Given the description of an element on the screen output the (x, y) to click on. 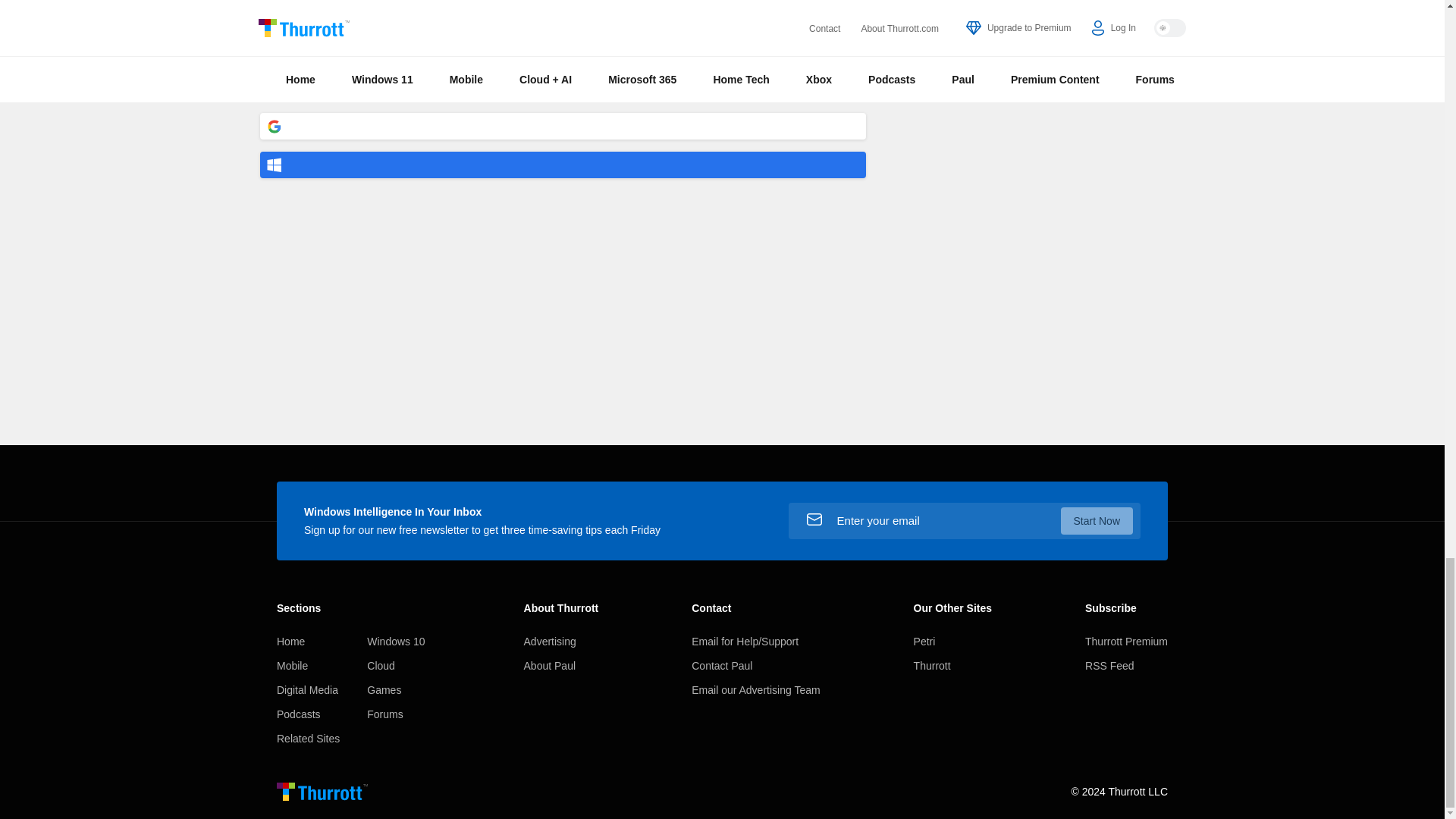
Login with Google (563, 126)
Login with Microsoft (563, 164)
Start Now (1096, 520)
